Given the description of an element on the screen output the (x, y) to click on. 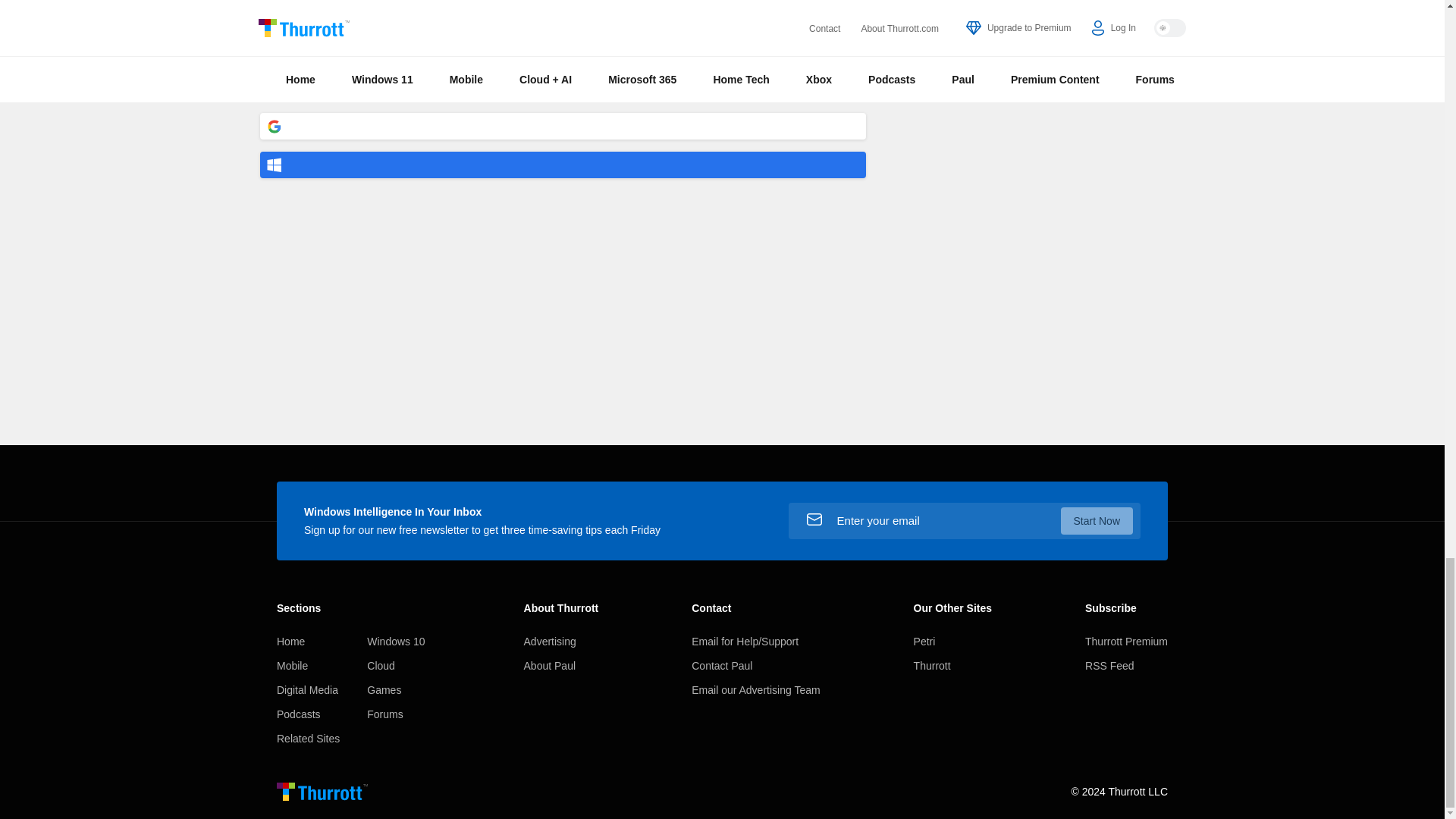
Login with Google (563, 126)
Login with Microsoft (563, 164)
Start Now (1096, 520)
